Given the description of an element on the screen output the (x, y) to click on. 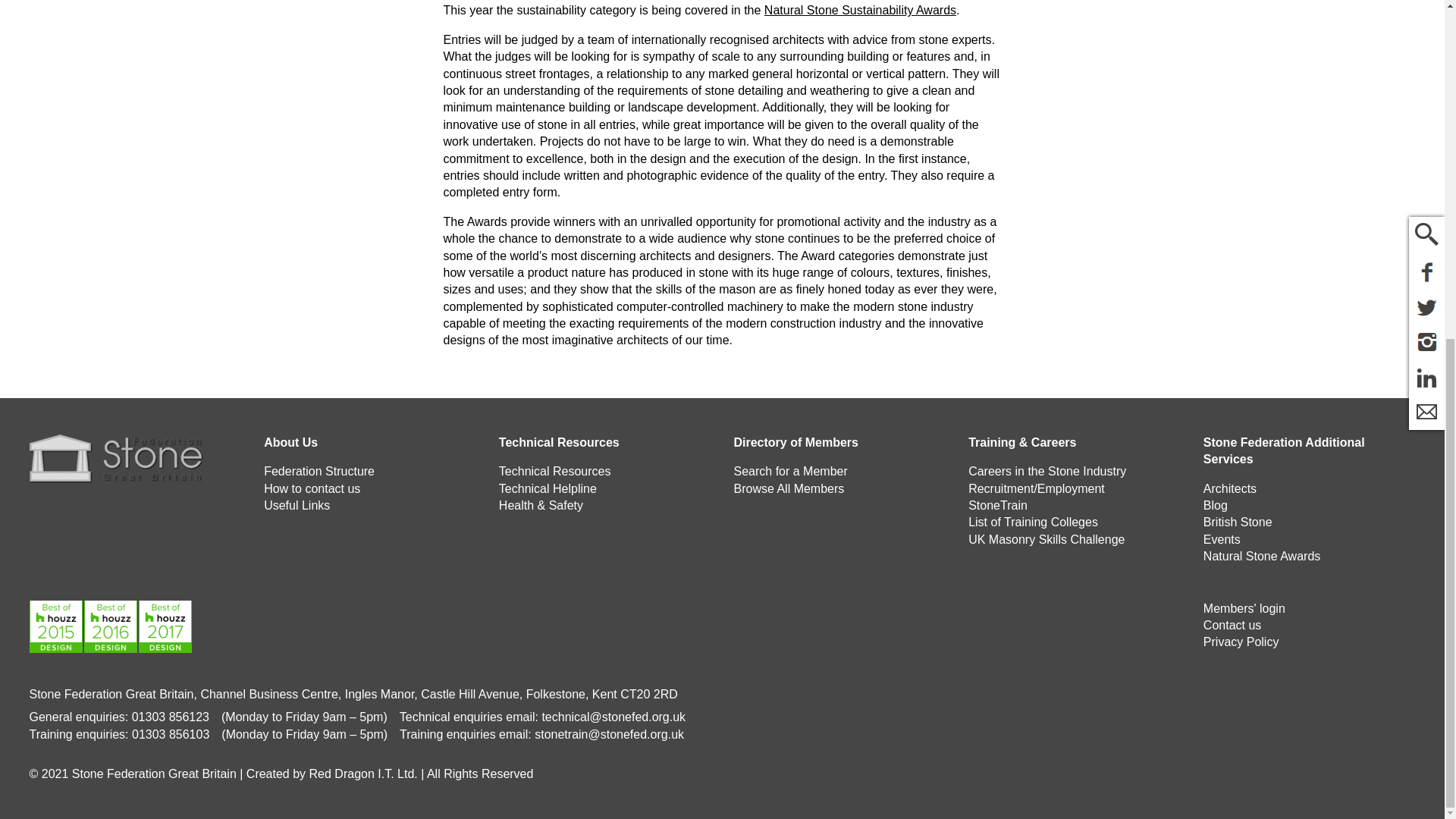
Natural Stone Sustainability Awards (860, 10)
Useful Links (296, 504)
StoneTrain (997, 504)
Technical Helpline (547, 488)
Careers in the Stone Industry (1046, 471)
How to contact us (311, 488)
Search for a Member (790, 471)
Technical Resources (555, 471)
Federation Structure (318, 471)
List of Training Colleges (1032, 521)
Browse All Members (788, 488)
